Given the description of an element on the screen output the (x, y) to click on. 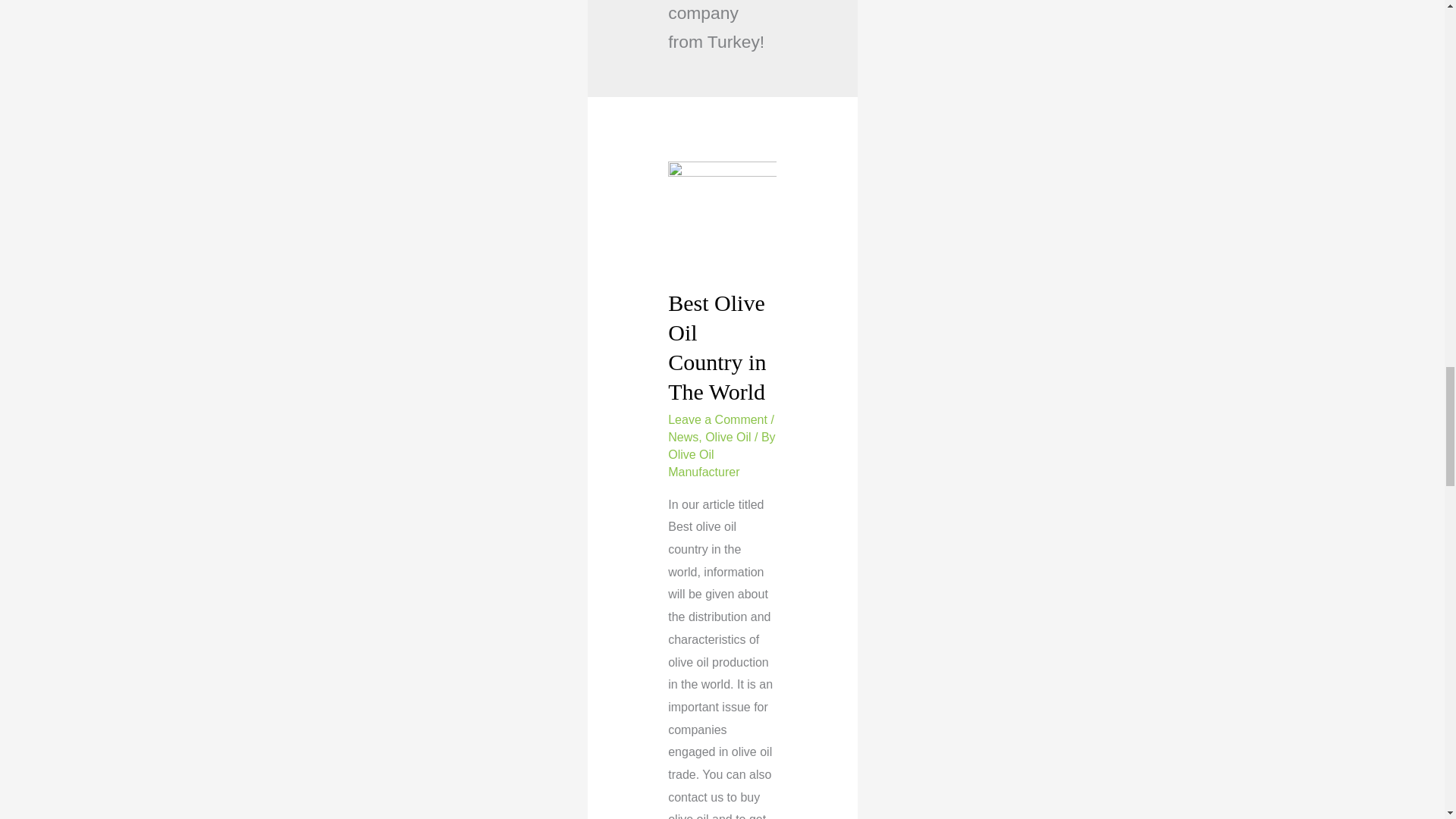
News (683, 436)
Olive Oil Manufacturer (703, 462)
Leave a Comment (717, 419)
View all posts by Olive Oil Manufacturer (703, 462)
Olive Oil (727, 436)
